Given the description of an element on the screen output the (x, y) to click on. 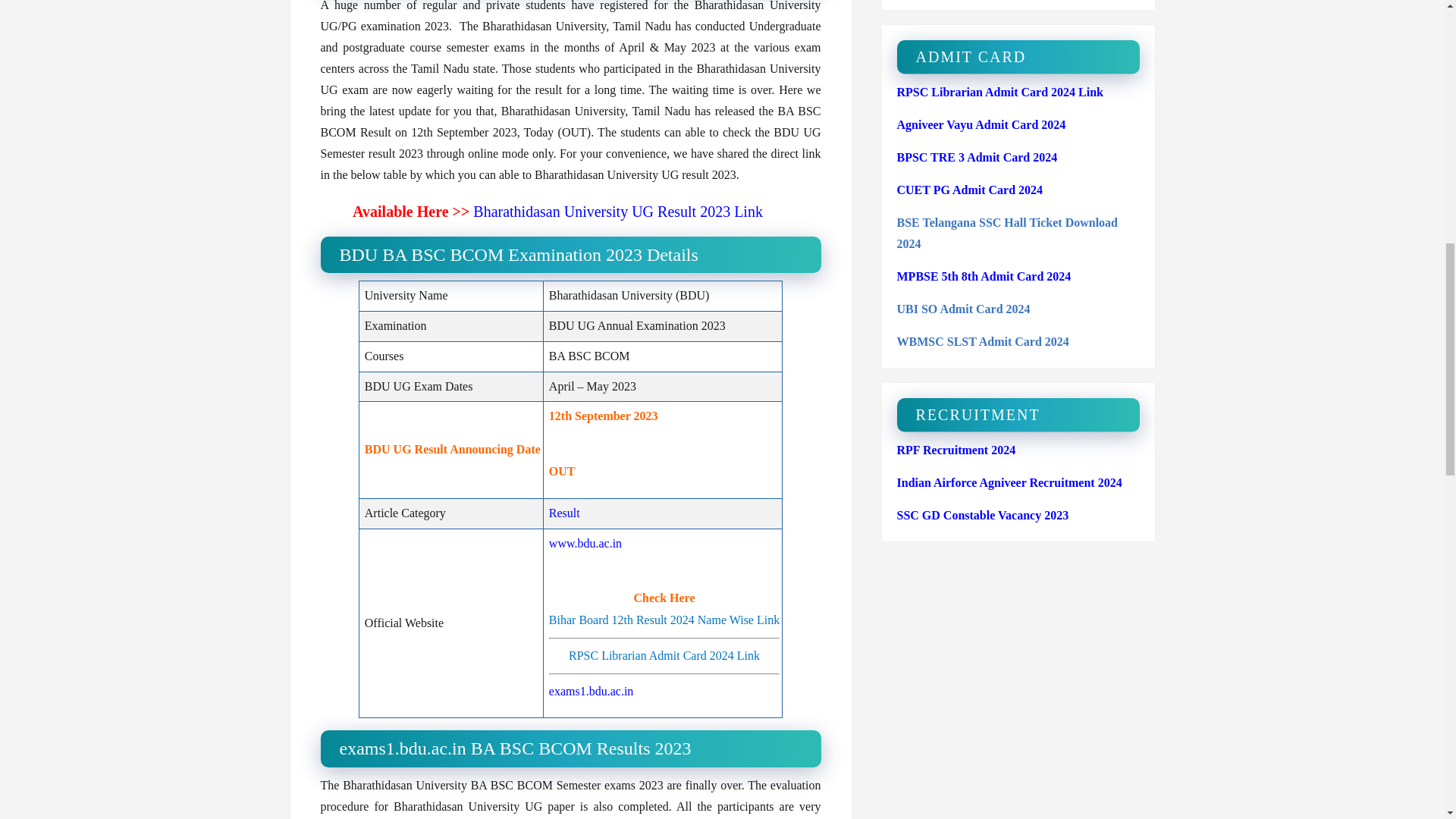
Bharathidasan University UG Result 2023 Link (617, 211)
CUET PG Admit Card 2024 (969, 189)
UBI SO Admit Card 2024 (962, 308)
BSE Telangana SSC Hall Ticket Download 2024 (1007, 233)
RPF Recruitment 2024 (955, 449)
RPSC Librarian Admit Card 2024 Link (999, 91)
Agniveer Vayu Admit Card 2024 (980, 124)
Bihar Board 12th Result 2024 Name Wise Link (663, 619)
WBMSC SLST Admit Card 2024 (982, 341)
Result (563, 512)
